Given the description of an element on the screen output the (x, y) to click on. 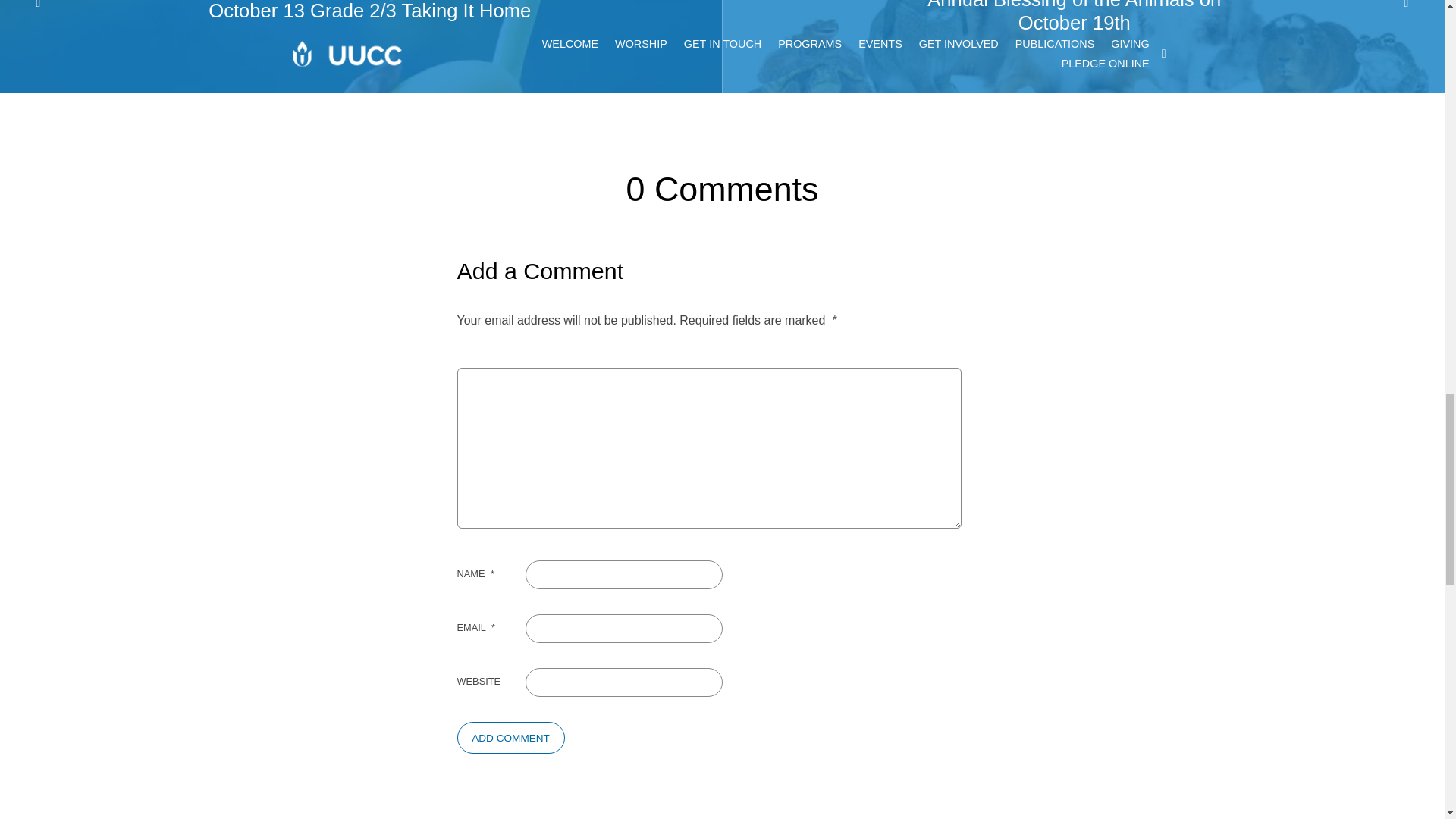
Add Comment (510, 737)
